Given the description of an element on the screen output the (x, y) to click on. 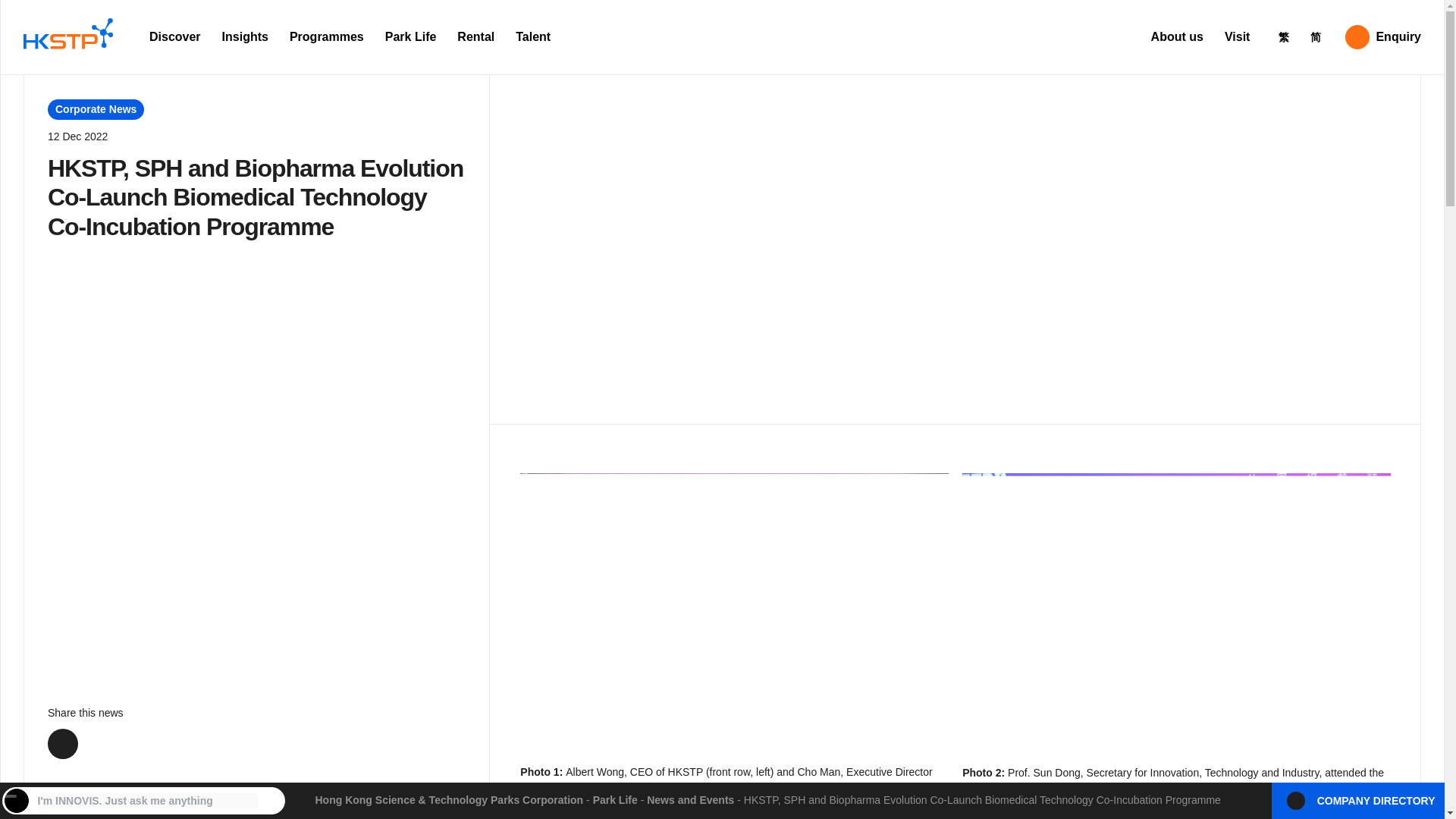
Programmes (326, 37)
Discover (174, 37)
Park Life (410, 37)
News and Events (689, 799)
Insights (245, 37)
Park Life (614, 799)
